Given the description of an element on the screen output the (x, y) to click on. 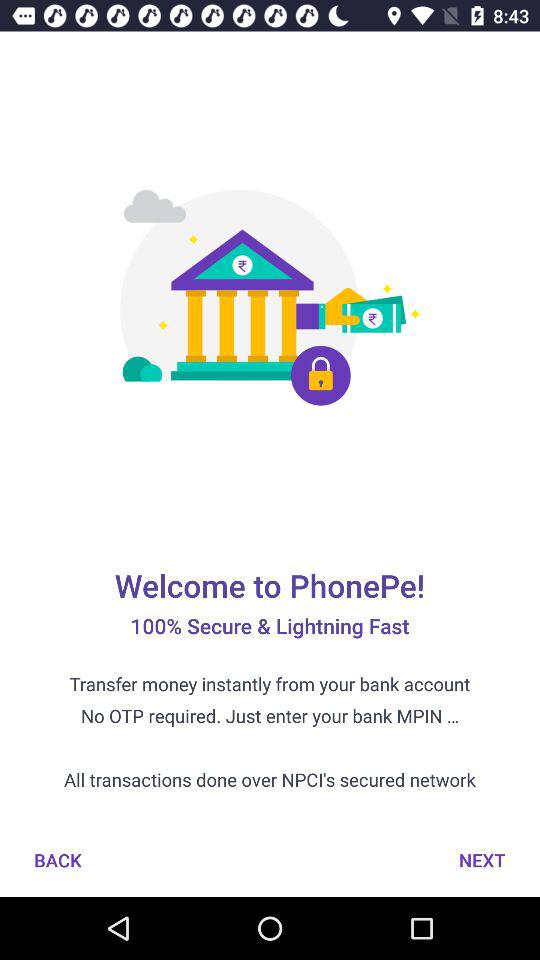
launch icon to the right of the back icon (482, 859)
